Given the description of an element on the screen output the (x, y) to click on. 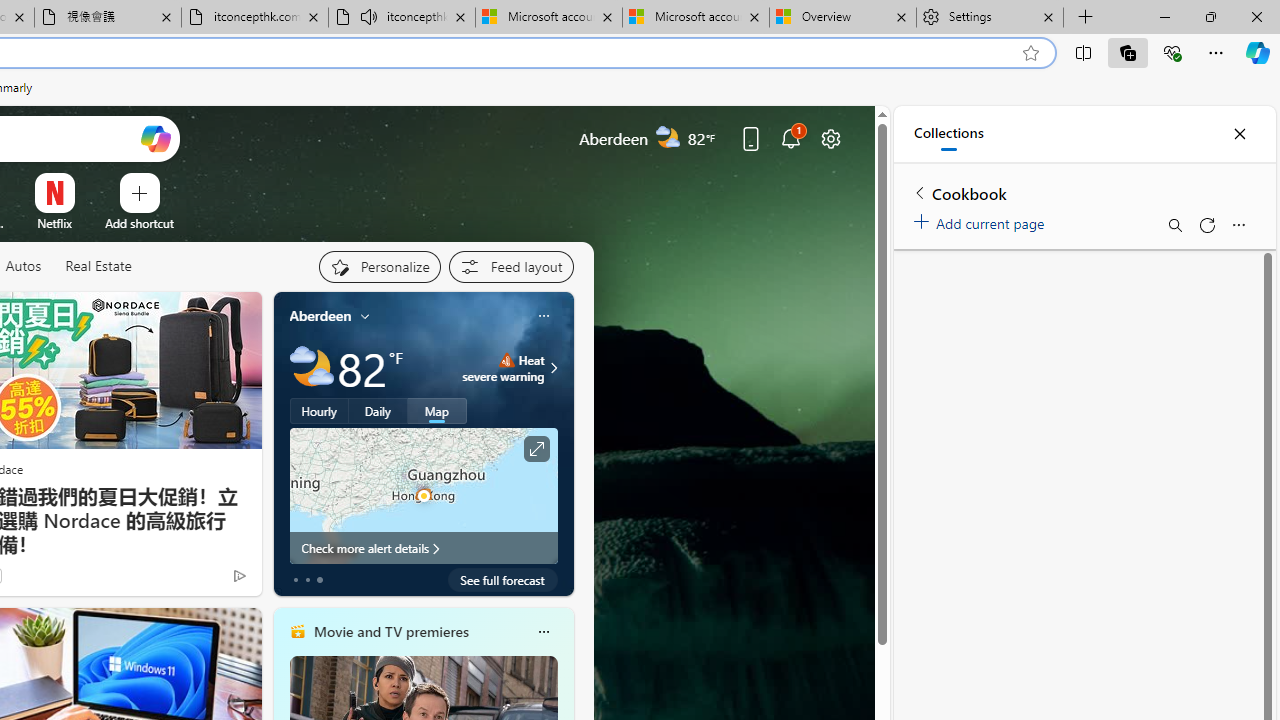
Real Estate (97, 267)
Heat - Severe (505, 359)
Map (437, 411)
My location (365, 315)
Aberdeen (320, 315)
Add current page (982, 219)
Netflix (54, 223)
Autos (22, 265)
Click to see more information (536, 449)
Mute tab (368, 16)
Partly cloudy (311, 368)
Personalize your feed" (379, 266)
Daily (378, 411)
